Given the description of an element on the screen output the (x, y) to click on. 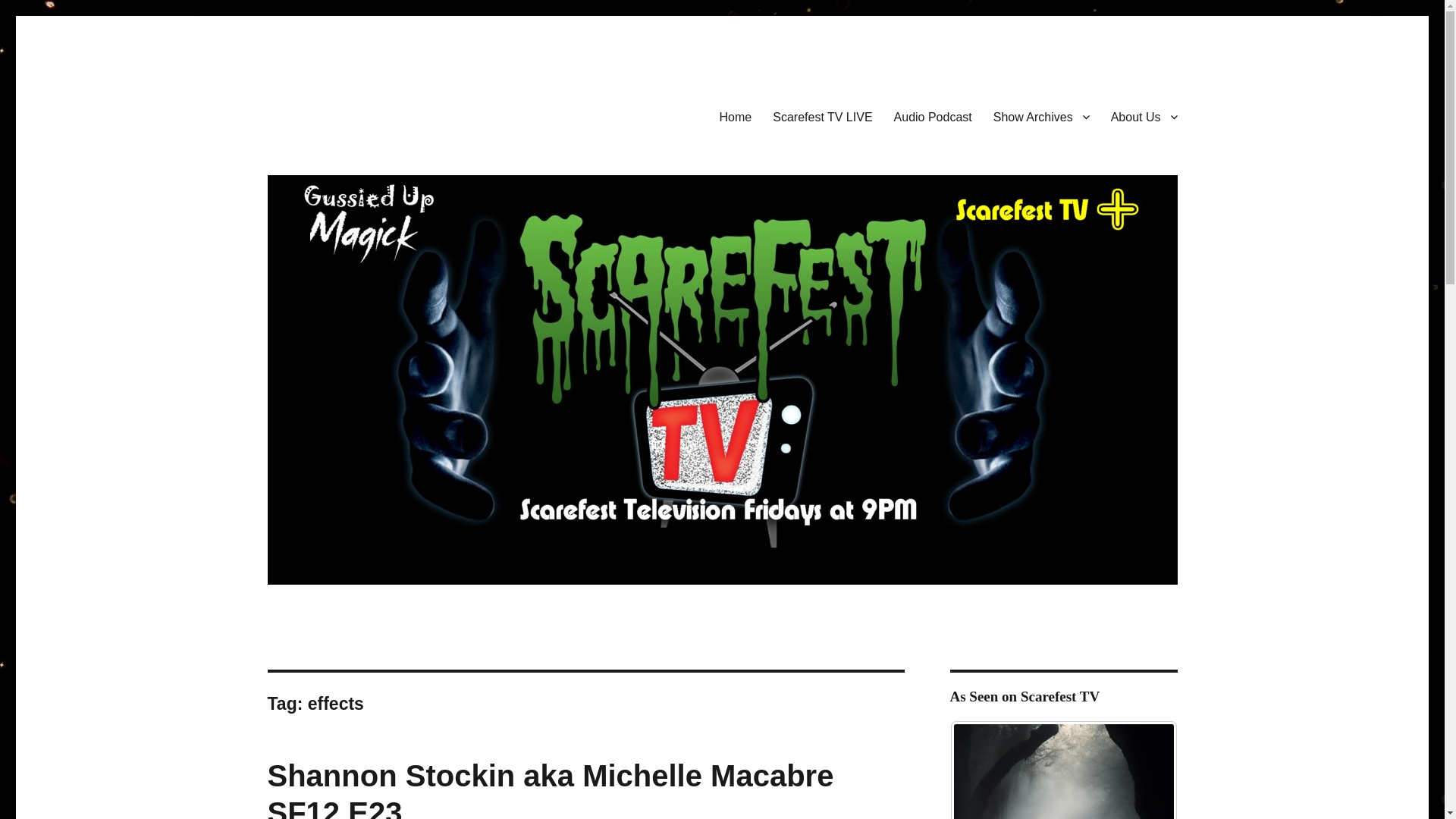
Scarefest TV LIVE (821, 116)
Shannon Stockin aka Michelle Macabre SF12 E23 (549, 789)
Show Archives (1041, 116)
Home (735, 116)
About Us (1144, 116)
Scarefest Radio (347, 114)
Audio Podcast (932, 116)
